Given the description of an element on the screen output the (x, y) to click on. 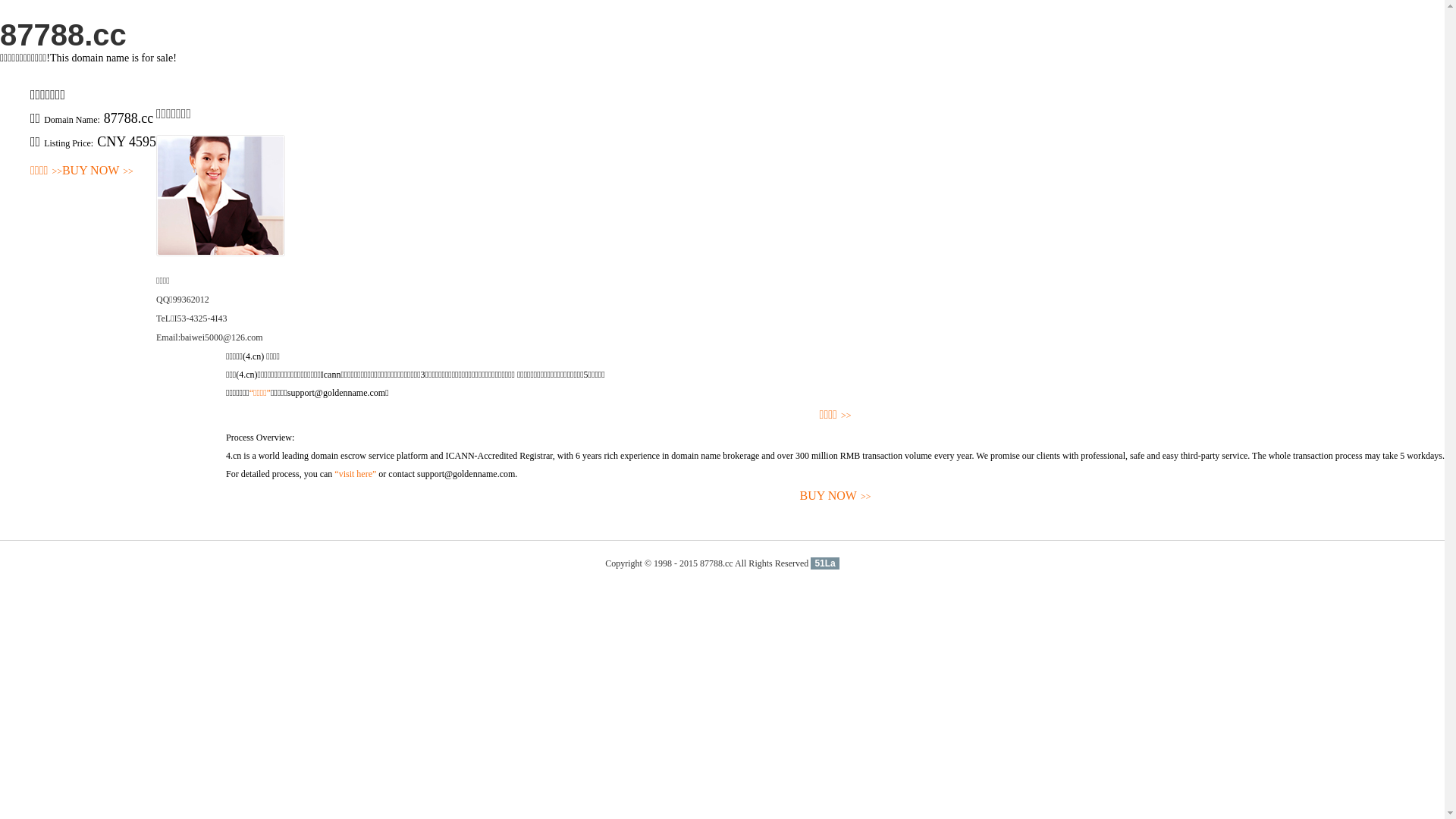
51La Element type: text (824, 563)
BUY NOW>> Element type: text (97, 170)
BUY NOW>> Element type: text (834, 496)
